Given the description of an element on the screen output the (x, y) to click on. 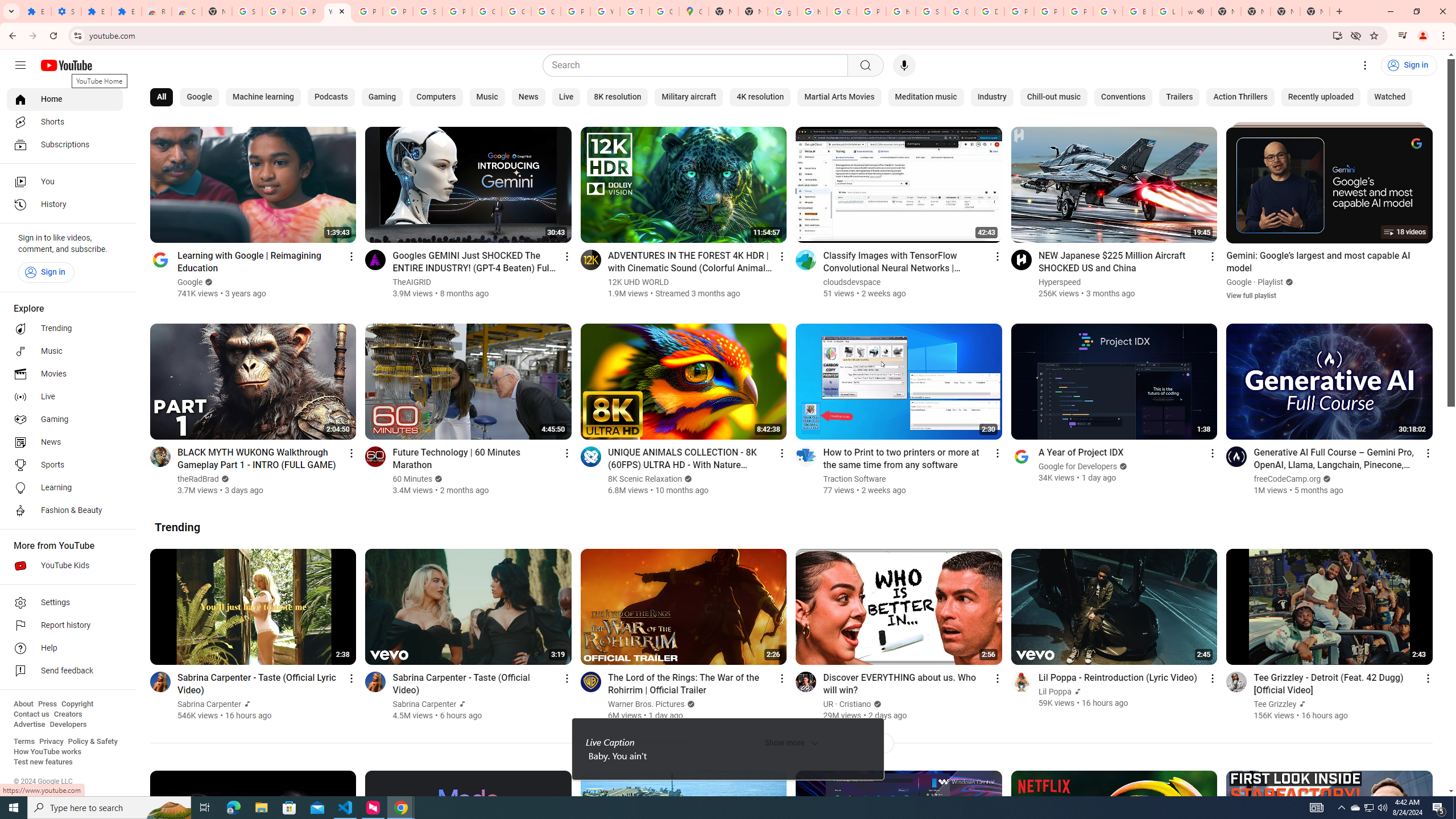
Terms (23, 741)
YouTube (1107, 11)
8K resolution (616, 97)
Search with your voice (903, 65)
Trailers (1178, 97)
Policy & Safety (91, 741)
Google Maps (693, 11)
12K UHD WORLD (638, 282)
New Tab (1284, 11)
Action menu (1427, 677)
Verified (875, 704)
